Given the description of an element on the screen output the (x, y) to click on. 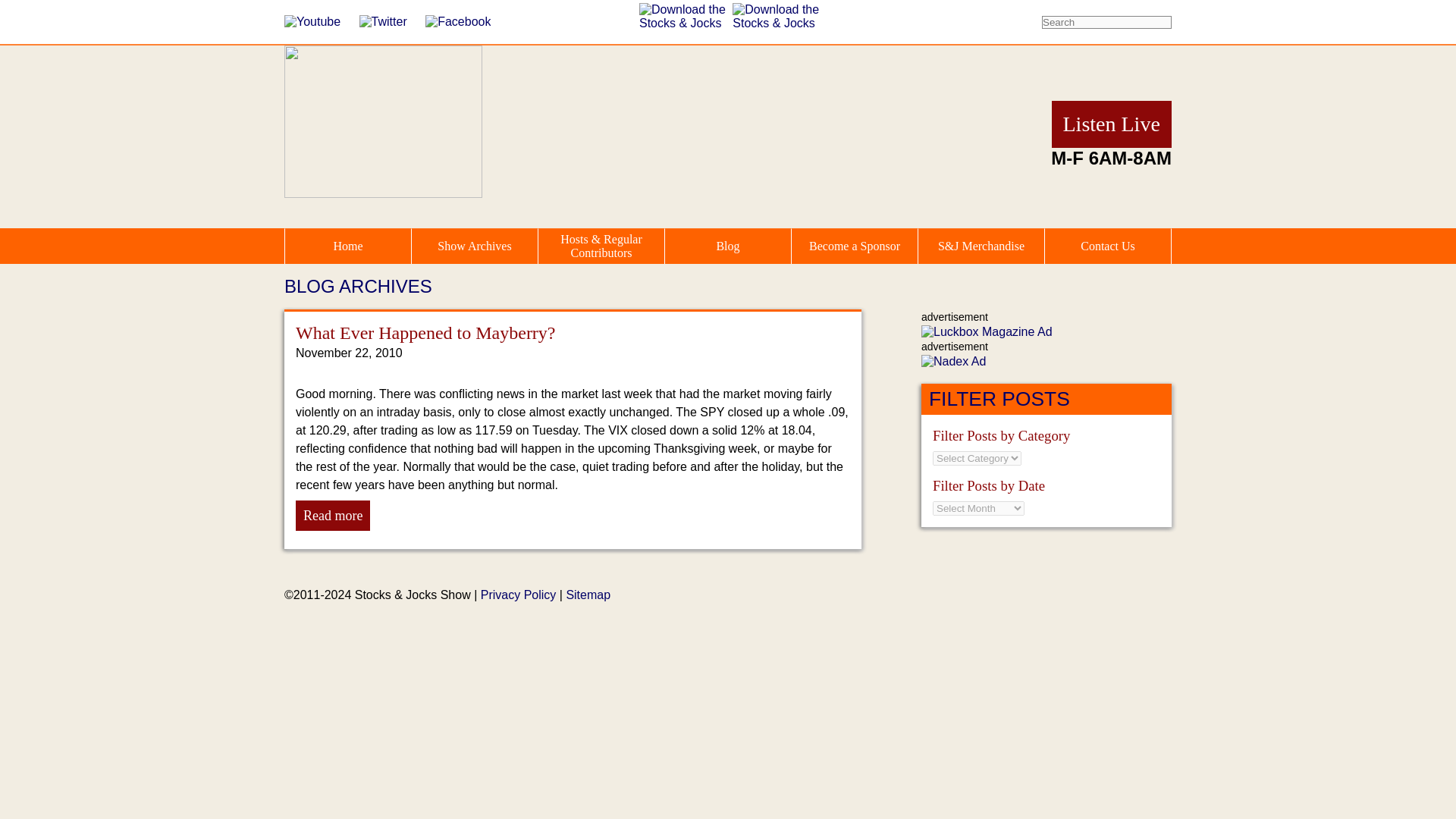
Listen Live (1111, 123)
Contact Us (1107, 246)
Read more (332, 515)
Show Archives (474, 246)
Sitemap (588, 594)
What Ever Happened to Mayberry? (425, 332)
Become a Sponsor (854, 246)
Home (347, 246)
Privacy Policy (518, 594)
Blog (727, 246)
